Given the description of an element on the screen output the (x, y) to click on. 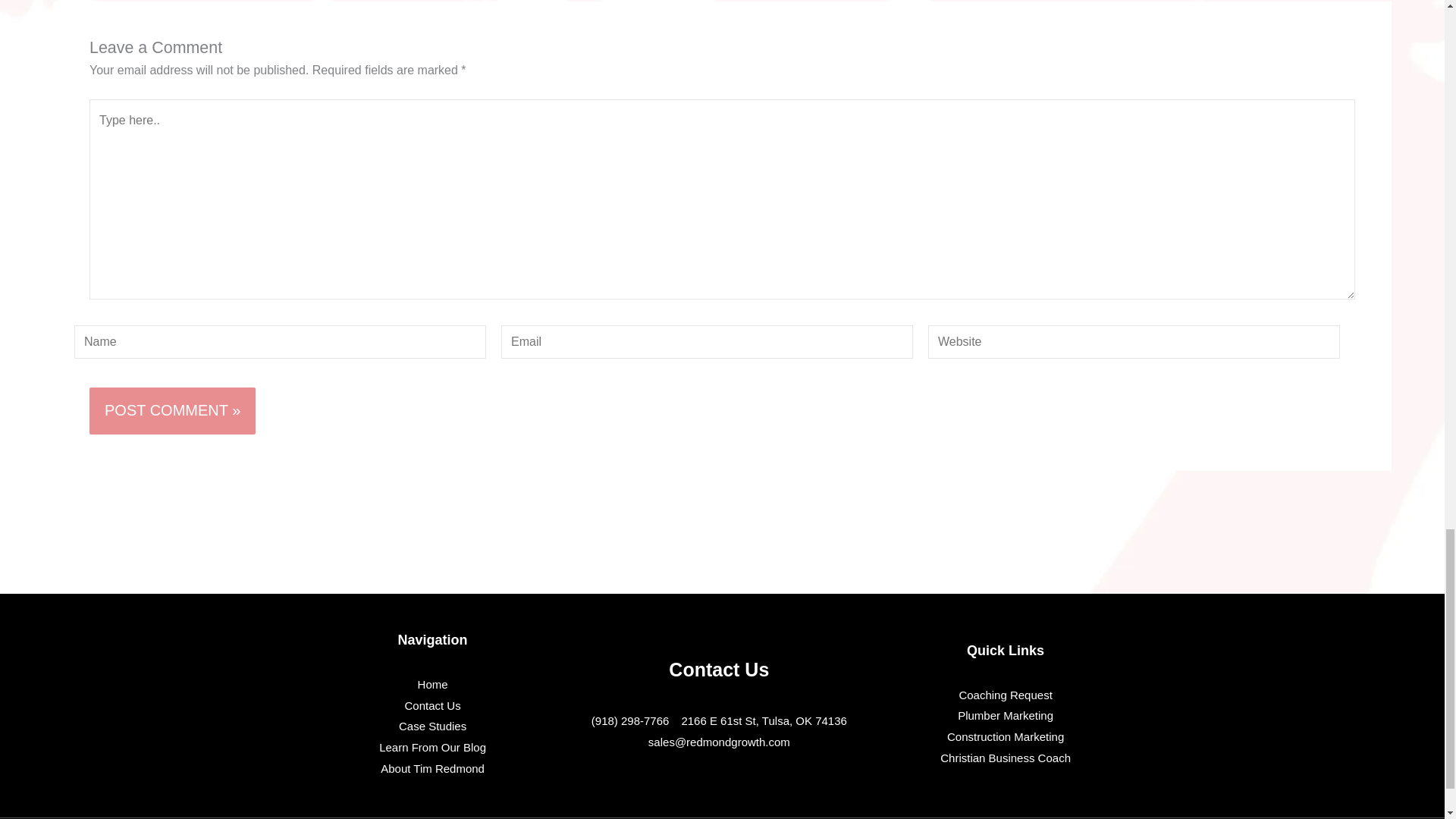
Case Studies (432, 726)
Home (432, 684)
Contact Us (432, 705)
About Tim Redmond (432, 768)
Plumber Marketing (1005, 715)
Construction Marketing (1005, 736)
Learn From Our Blog (432, 747)
